Given the description of an element on the screen output the (x, y) to click on. 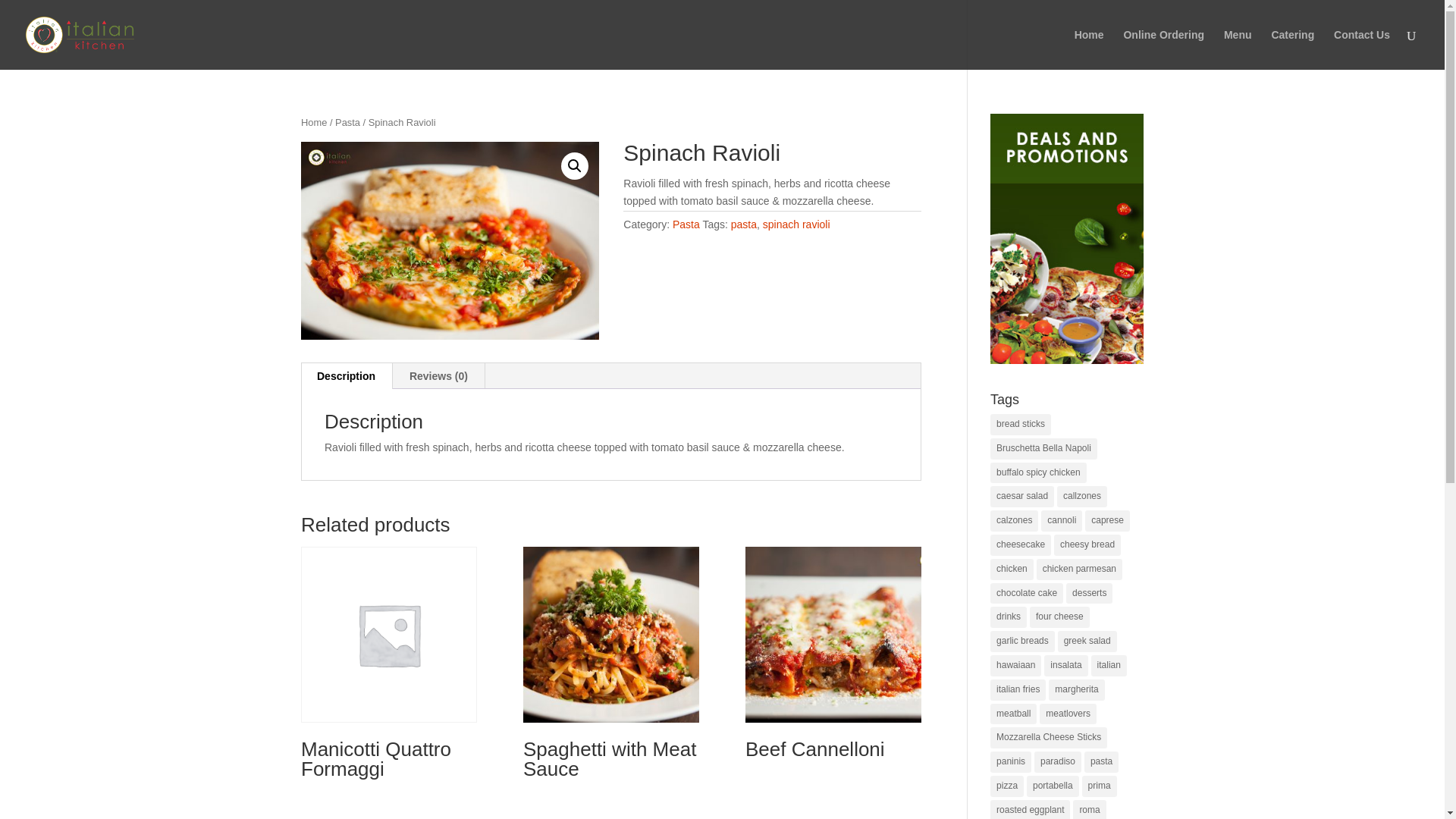
buffalo spicy chicken (1038, 473)
spinach ravioli (795, 224)
calzones (1014, 520)
Pasta (346, 122)
Catering (1292, 49)
caesar salad (1022, 496)
caprese (1106, 520)
Pasta (686, 224)
Bruschetta Bella Napoli (1043, 448)
Contact Us (1361, 49)
Home (313, 122)
cannoli (1061, 520)
callzones (1081, 496)
pasta (743, 224)
bread sticks (1020, 424)
